Given the description of an element on the screen output the (x, y) to click on. 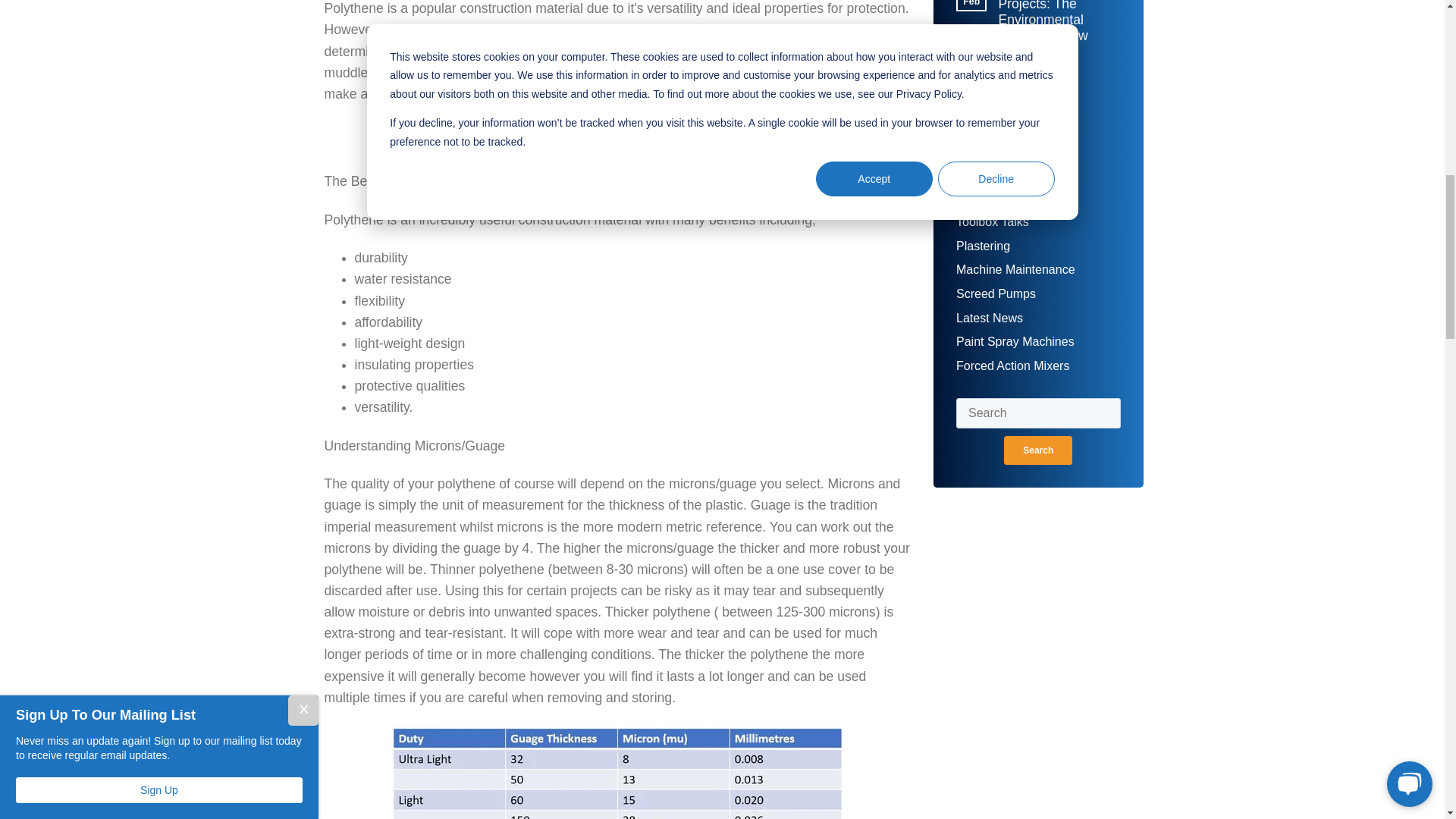
Talk To An Expert (617, 137)
